Given the description of an element on the screen output the (x, y) to click on. 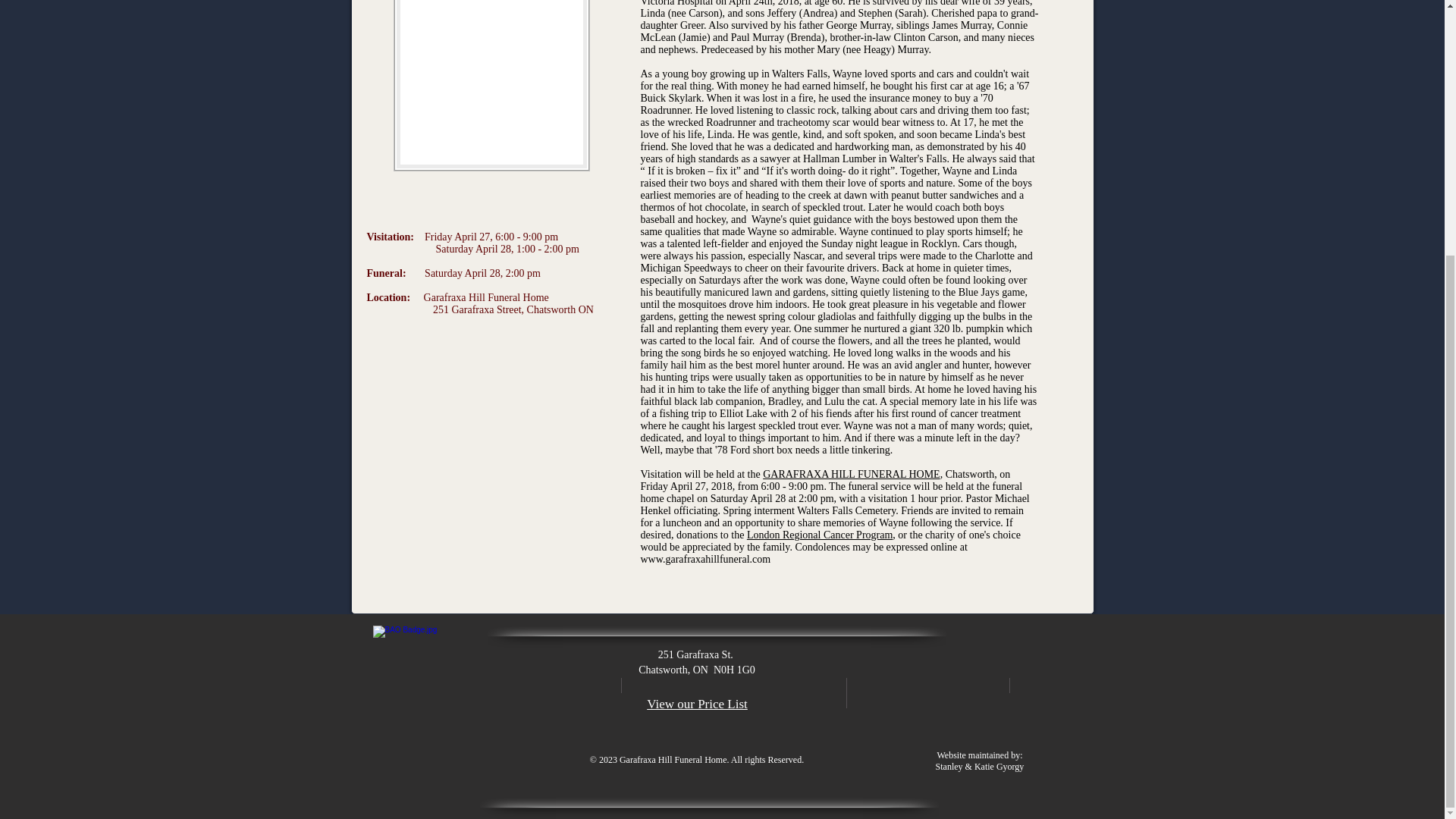
www.garafraxahillfuneral.com (705, 559)
London Regional Cancer Program (819, 534)
GARAFRAXA HILL FUNERAL HOME (850, 473)
View our Price List (697, 703)
